Given the description of an element on the screen output the (x, y) to click on. 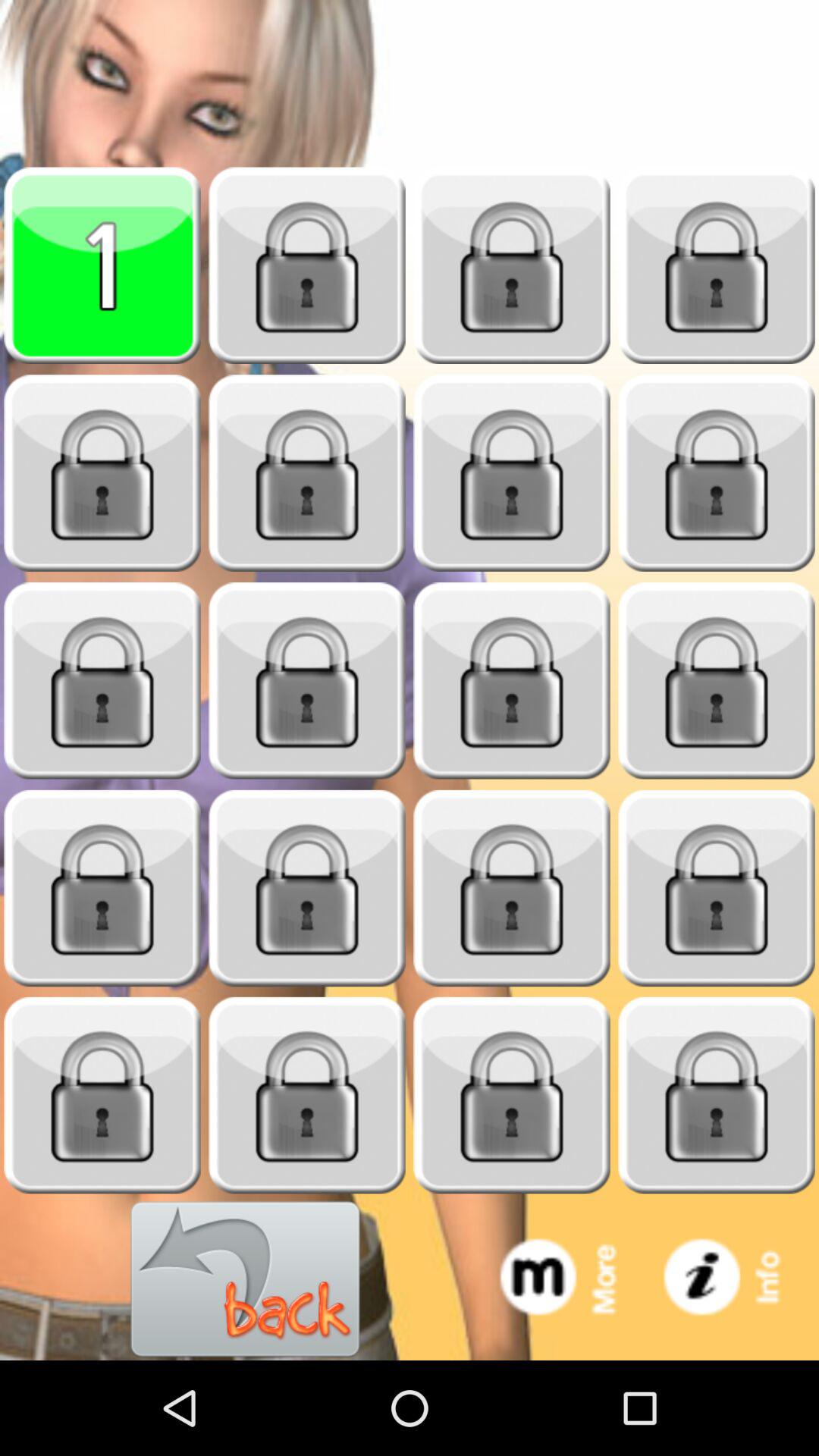
select option one (102, 265)
